Given the description of an element on the screen output the (x, y) to click on. 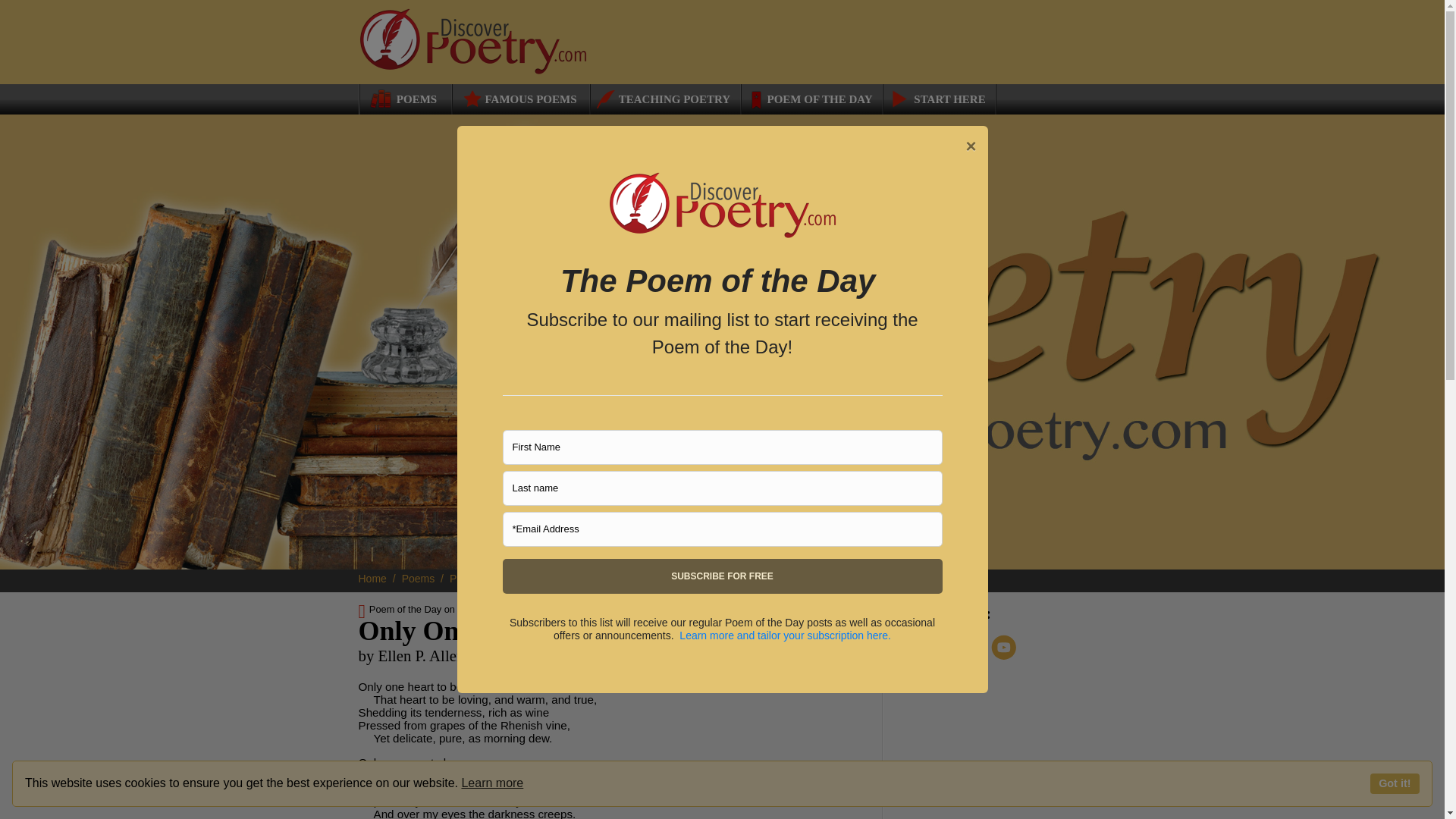
Ellen P. Allerton (535, 578)
Learn more (491, 782)
POEM OF THE DAY (811, 99)
Got it! (1394, 783)
START HERE (938, 99)
POEMS (400, 99)
Home (377, 578)
FAMOUS POEMS (519, 99)
TEACHING POETRY (660, 99)
Poets (468, 578)
Poems (423, 578)
